Given the description of an element on the screen output the (x, y) to click on. 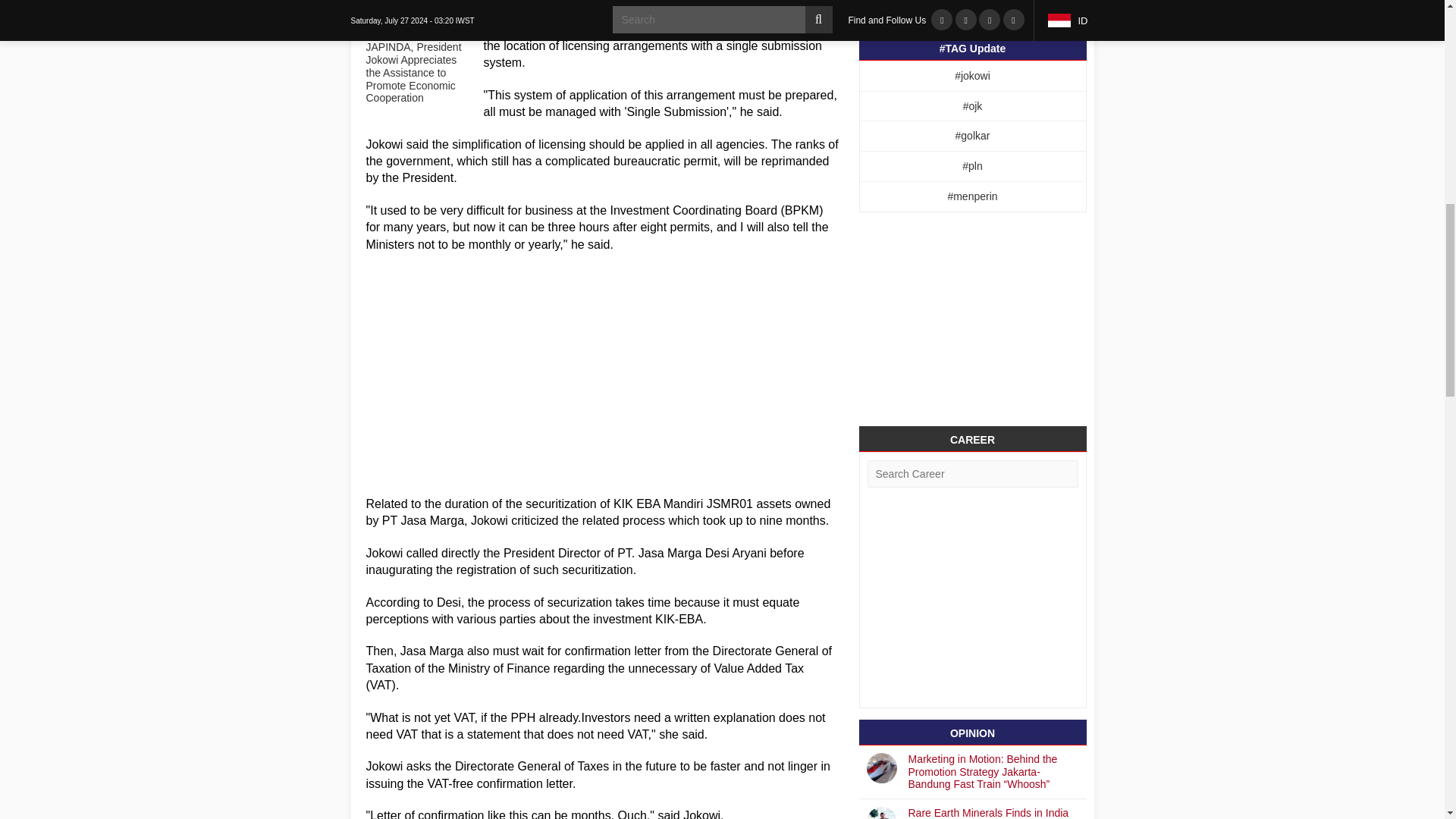
Jokowi memanggil langsung Direktur Utama PT. (501, 553)
